Given the description of an element on the screen output the (x, y) to click on. 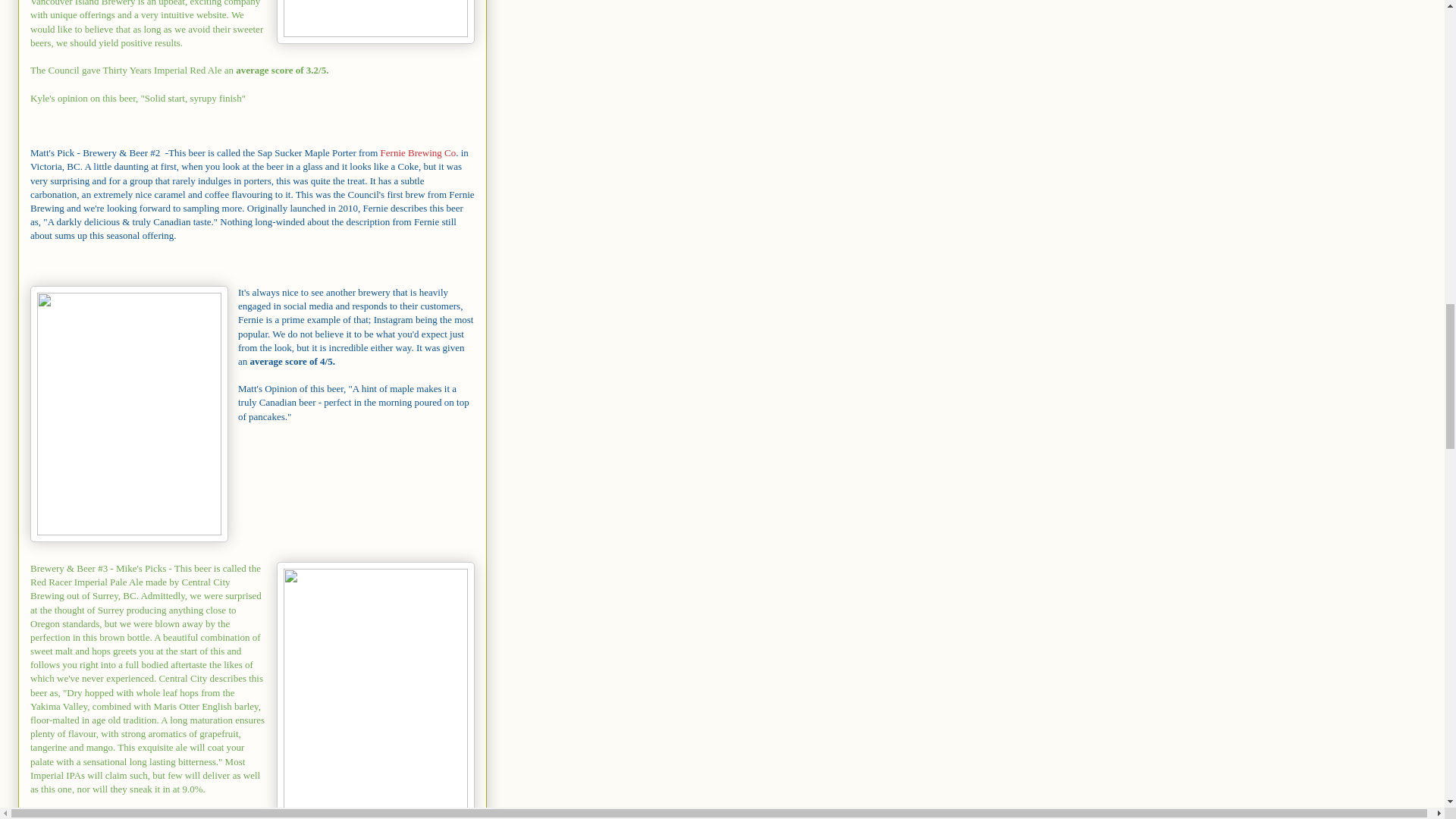
Fernie Brewing Co (418, 152)
